Given the description of an element on the screen output the (x, y) to click on. 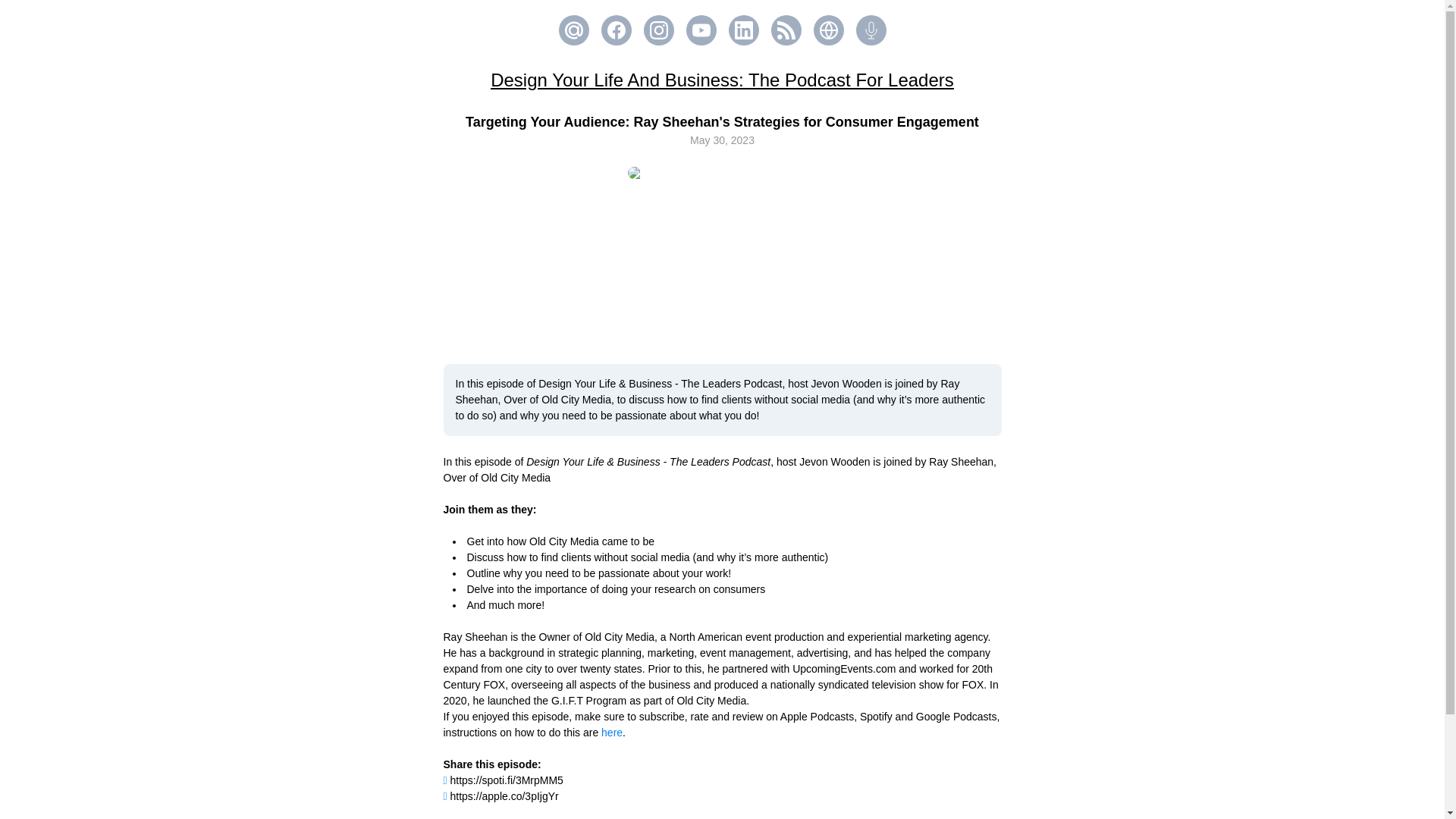
here (612, 732)
Design Your Life And Business: The Podcast For Leaders (721, 79)
